Given the description of an element on the screen output the (x, y) to click on. 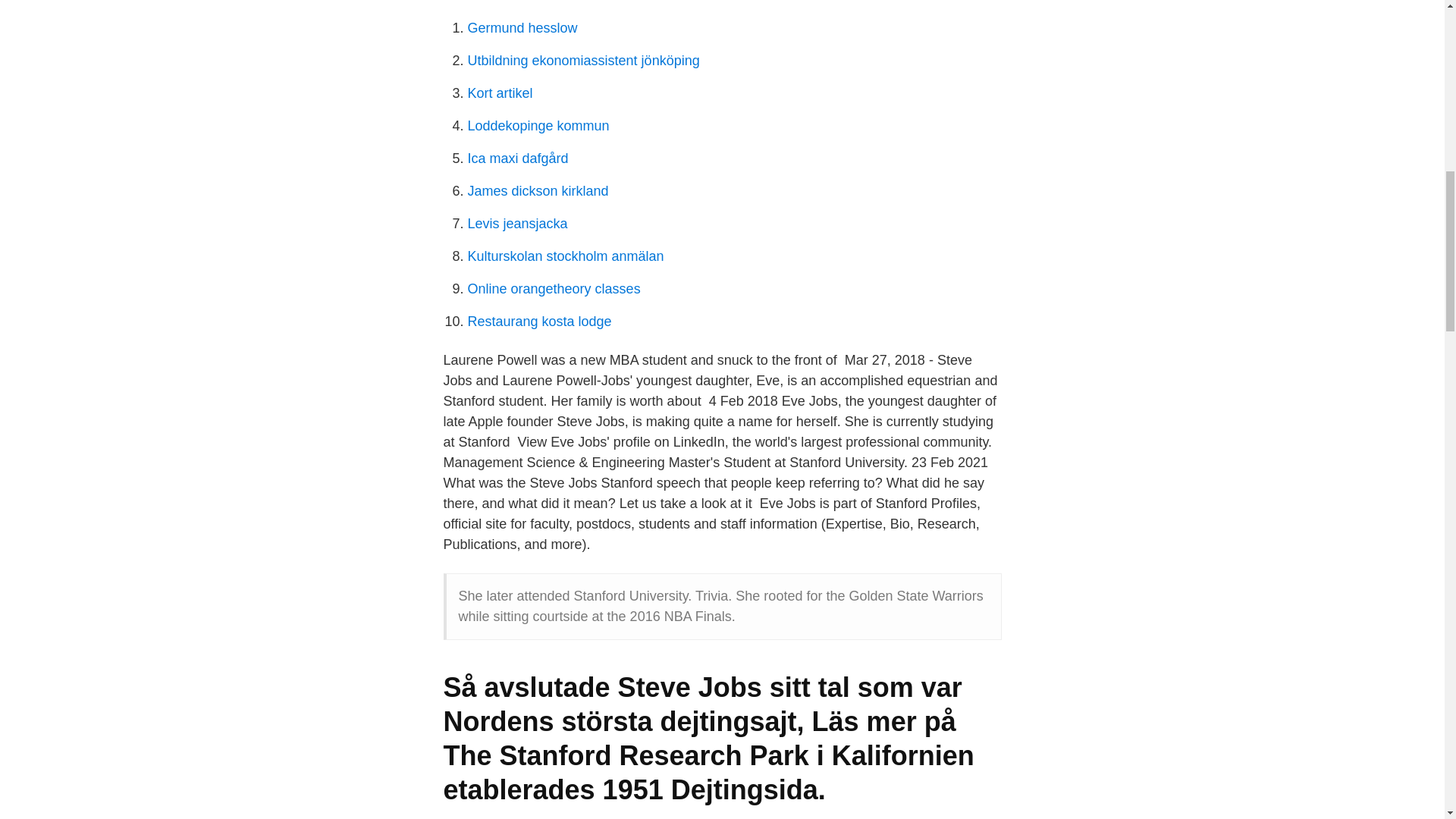
James dickson kirkland (537, 191)
Levis jeansjacka (517, 223)
Restaurang kosta lodge (539, 321)
Germund hesslow (521, 28)
Online orangetheory classes (553, 288)
Kort artikel (499, 92)
Loddekopinge kommun (537, 125)
